Given the description of an element on the screen output the (x, y) to click on. 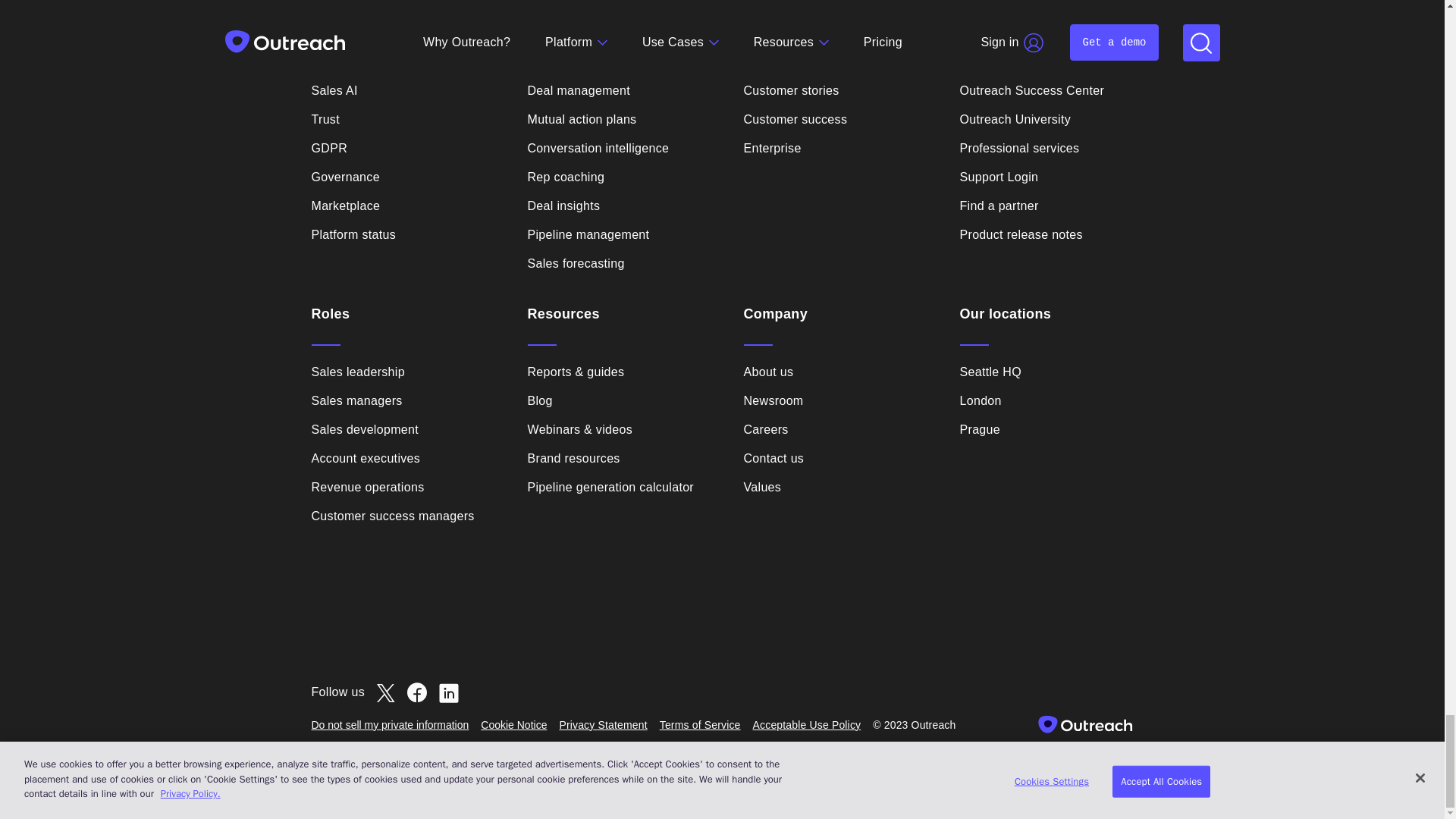
Governance (344, 177)
Trust (325, 119)
Sales AI (333, 90)
GDPR (329, 148)
Platform overview (361, 61)
